Given the description of an element on the screen output the (x, y) to click on. 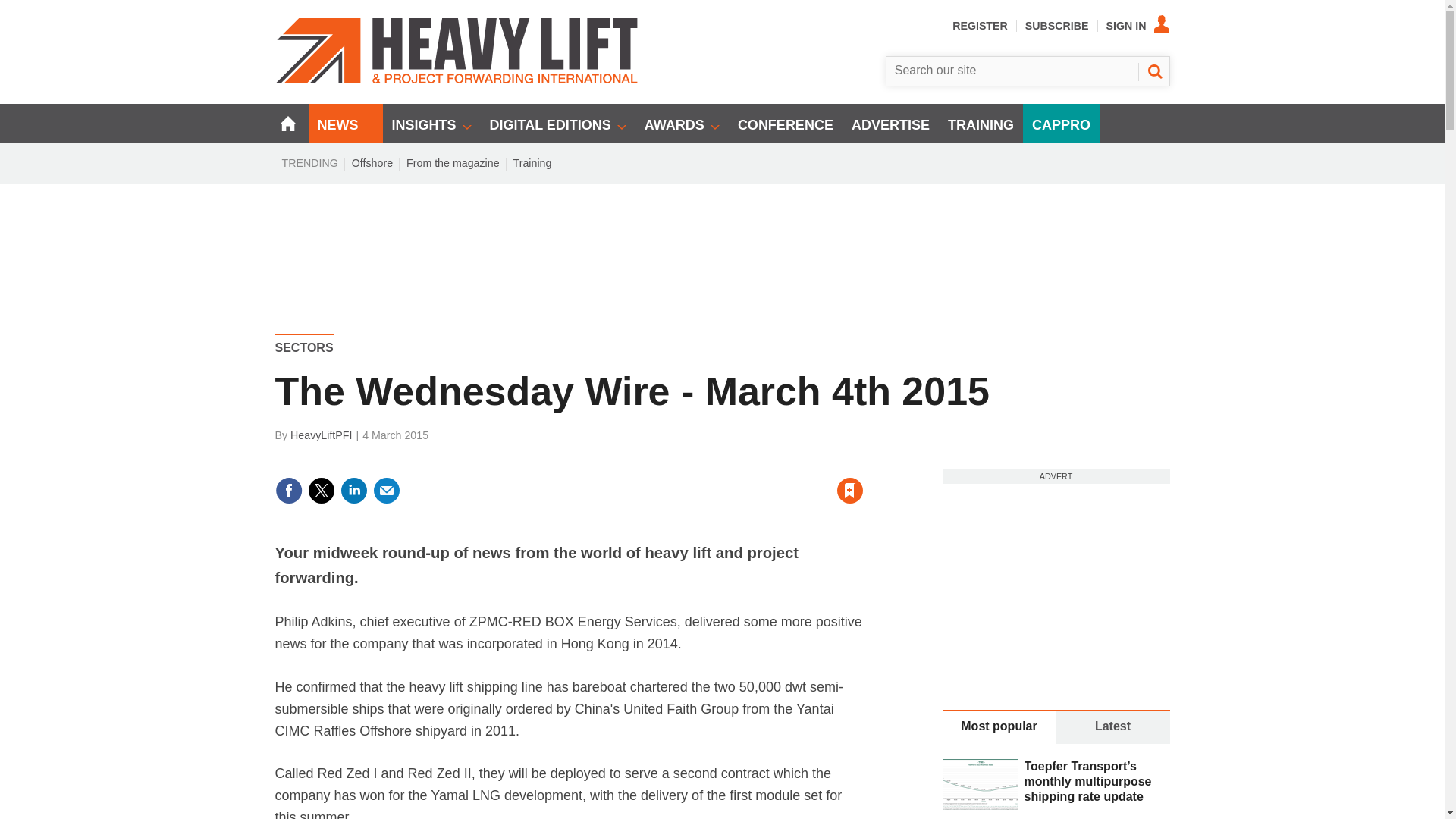
SIGN IN (1138, 25)
SUBSCRIBE (1057, 25)
Site name (457, 80)
From the magazine (452, 162)
Share this on Facebook (288, 490)
Training (532, 162)
Share this on Twitter (320, 490)
REGISTER (979, 25)
Share this on Linked in (352, 490)
Offshore (371, 162)
Email this article (386, 490)
3rd party ad content (1055, 578)
SEARCH (1153, 70)
3rd party ad content (722, 236)
